Given the description of an element on the screen output the (x, y) to click on. 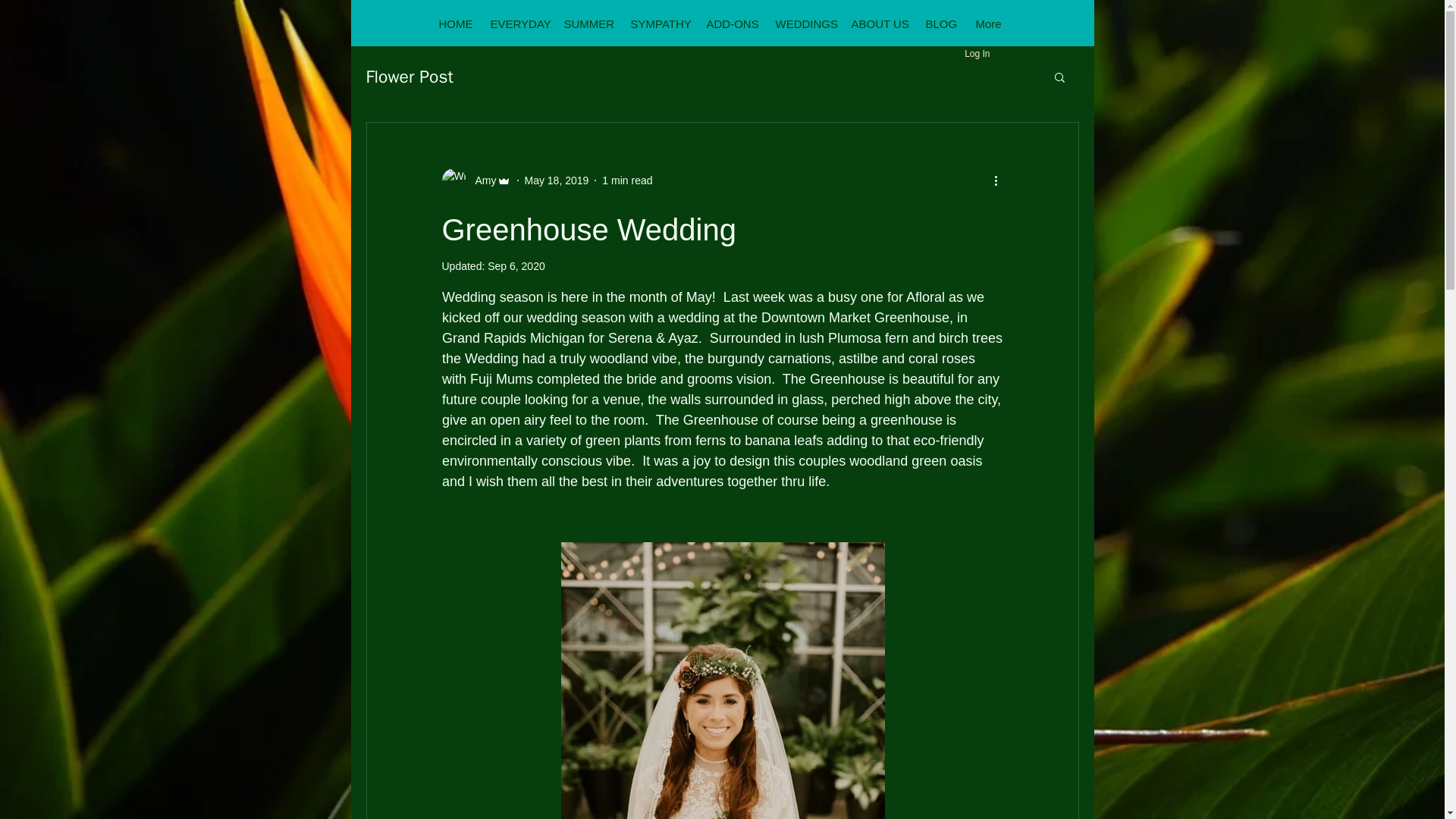
HOME (454, 24)
Amy (476, 180)
EVERYDAY (517, 24)
Flower Post (408, 76)
May 18, 2019 (556, 180)
WEDDINGS (803, 24)
ABOUT US (878, 24)
SUMMER (586, 24)
Sep 6, 2020 (515, 265)
ADD-ONS (730, 24)
SYMPATHY (657, 24)
Log In (976, 54)
BLOG (940, 24)
Amy (480, 180)
1 min read (627, 180)
